Given the description of an element on the screen output the (x, y) to click on. 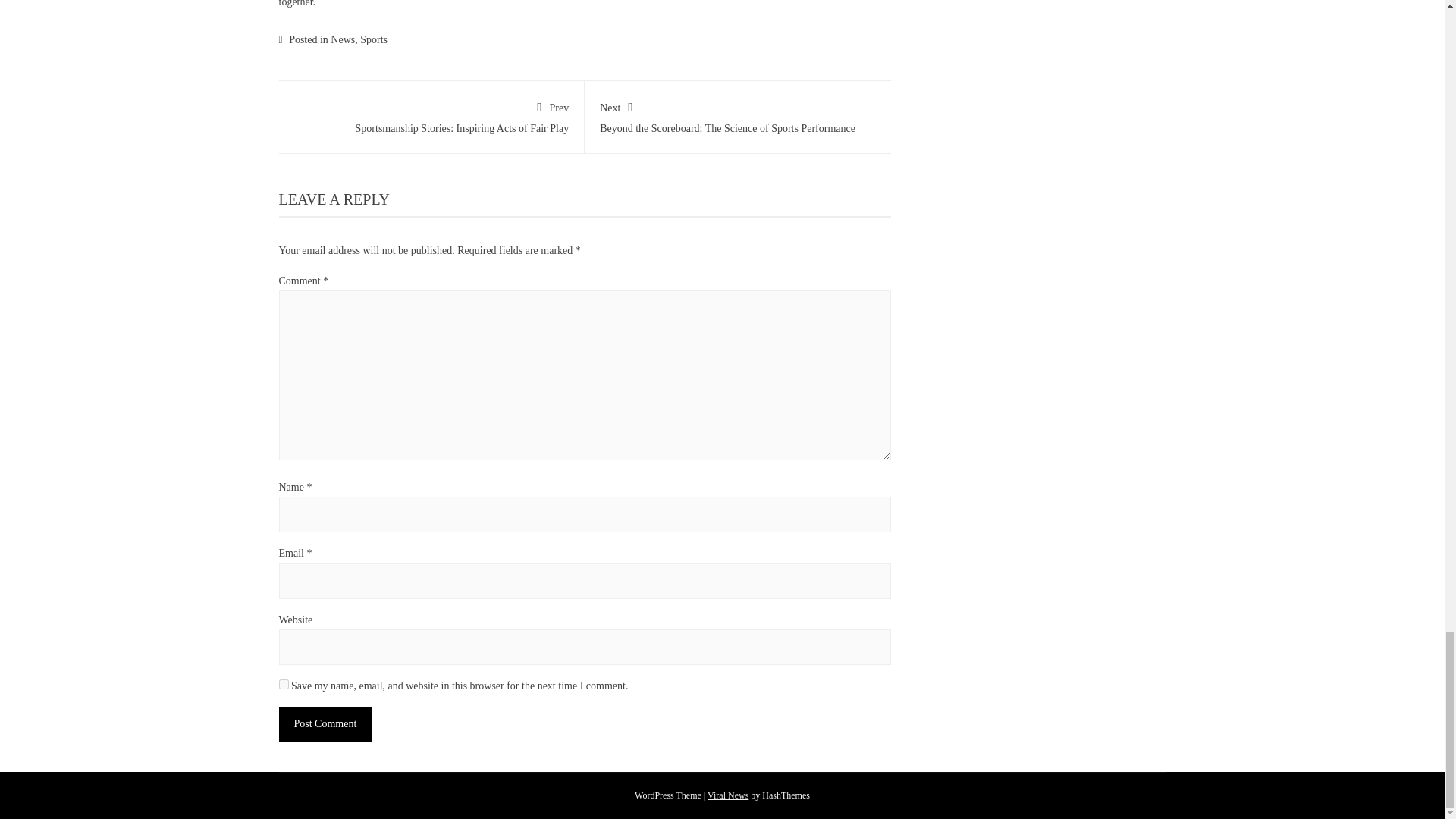
Post Comment (325, 723)
Post Comment (325, 723)
Download Viral News (727, 794)
Sports (373, 39)
News (431, 115)
yes (342, 39)
